Given the description of an element on the screen output the (x, y) to click on. 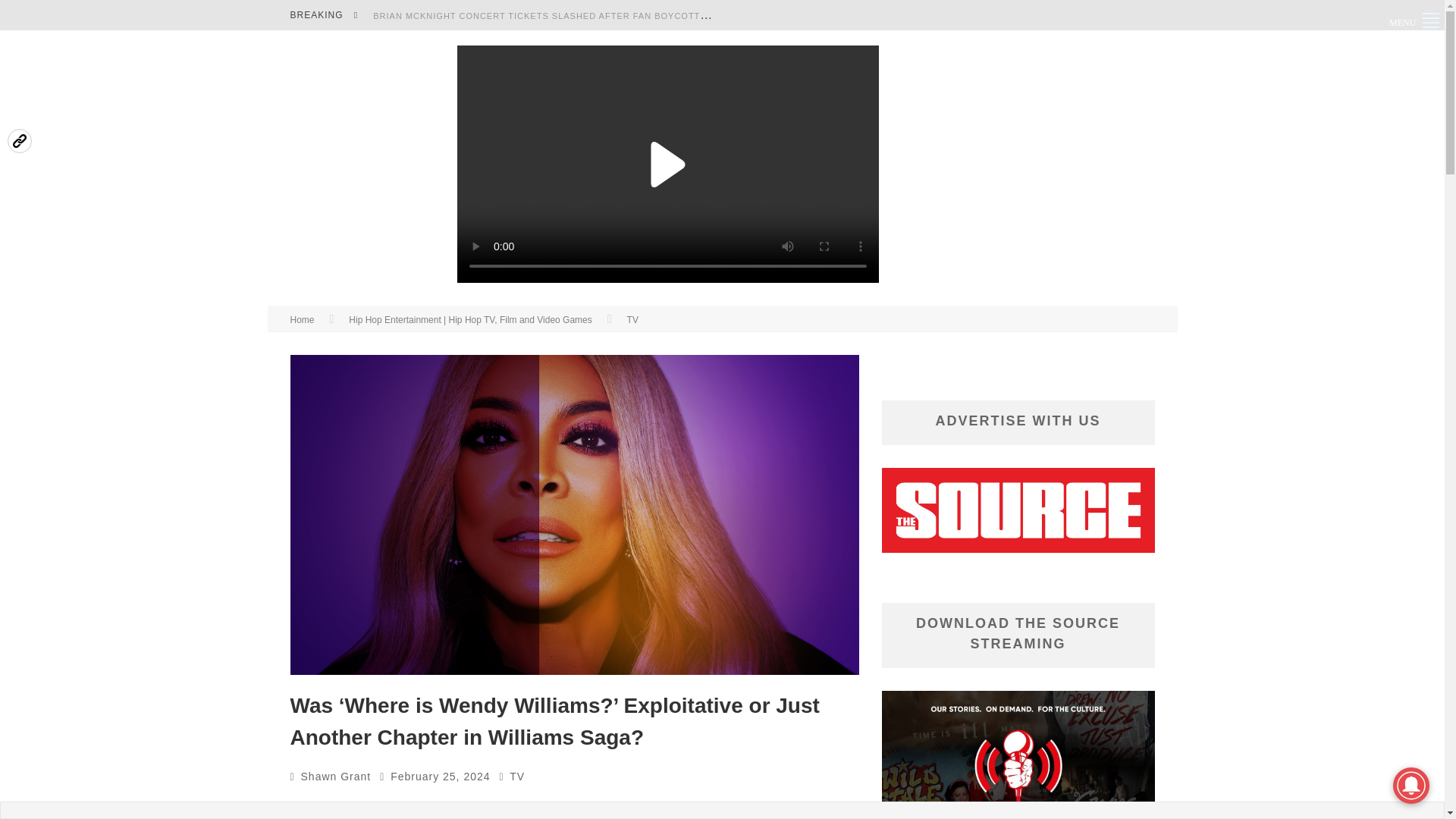
TV (633, 319)
View all posts in TV (516, 776)
Shawn Grant (336, 776)
View all posts in TV (633, 319)
TV (516, 776)
Vuukle Sharebar Widget (29, 138)
Home (301, 319)
